Given the description of an element on the screen output the (x, y) to click on. 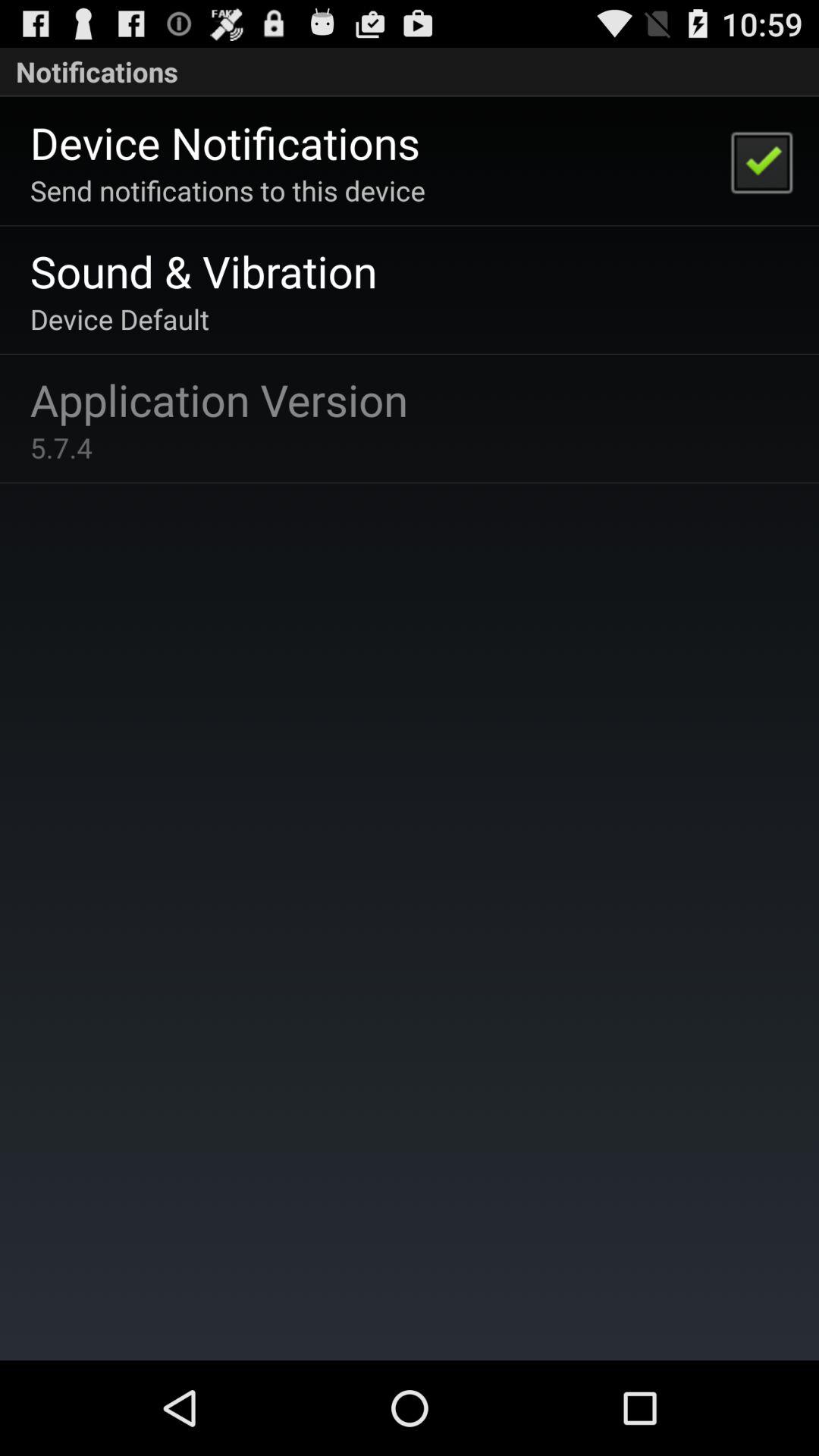
scroll until the application version (218, 399)
